Given the description of an element on the screen output the (x, y) to click on. 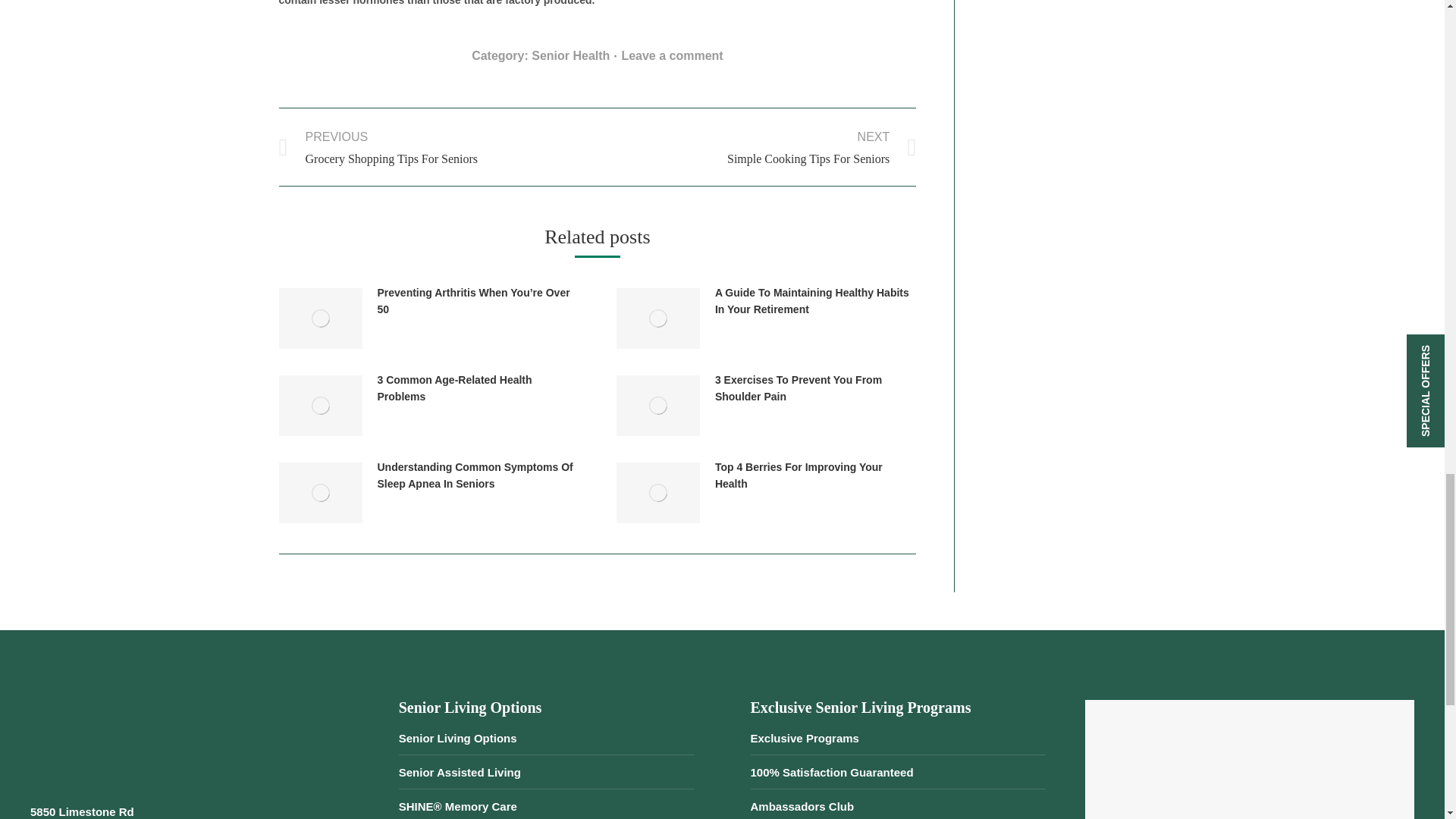
the-sumit-footer-logo (100, 737)
